Given the description of an element on the screen output the (x, y) to click on. 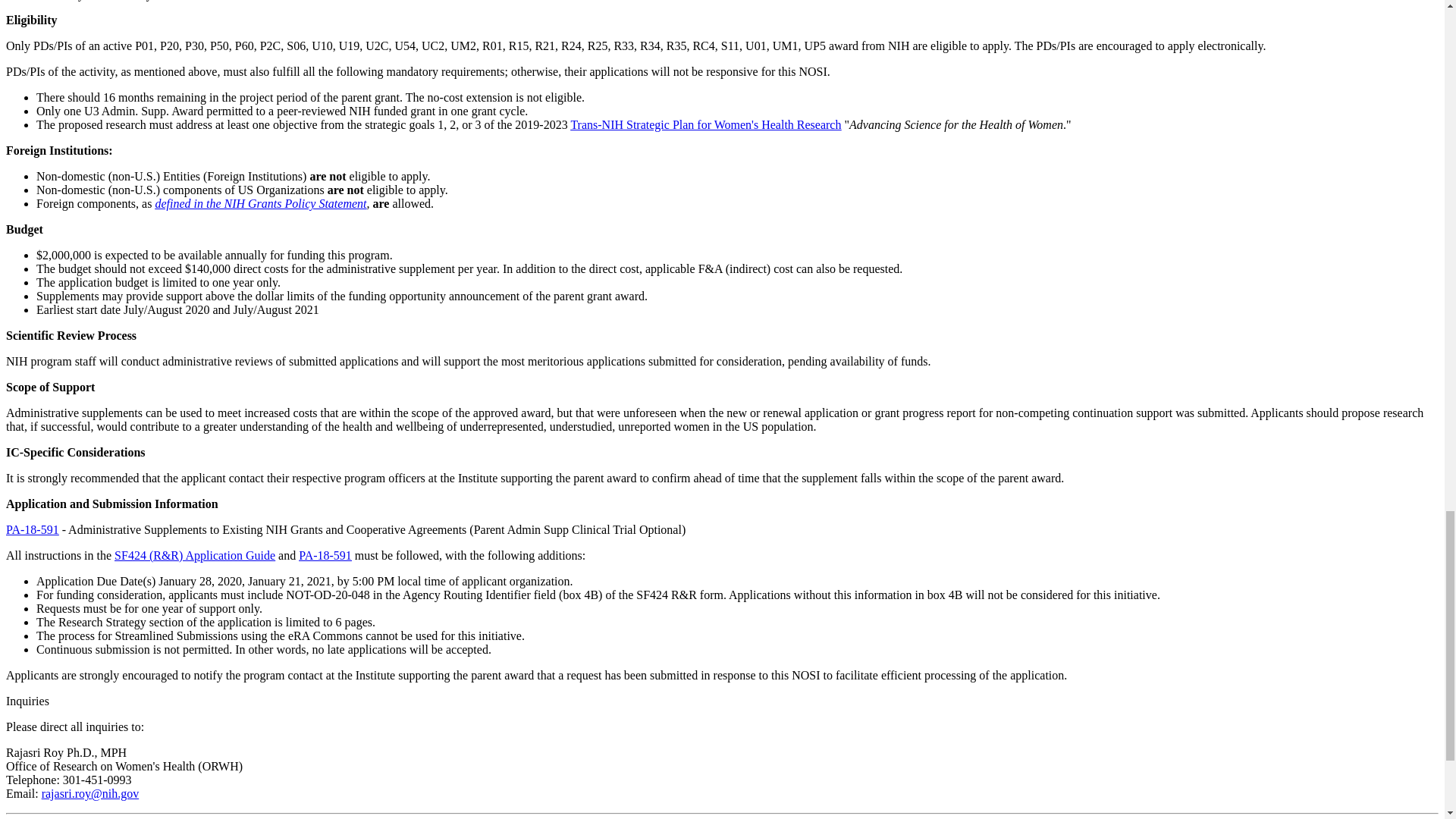
Trans-NIH Strategic Plan for Women's Health Research (705, 124)
defined in the NIH Grants Policy Statement (260, 203)
PA-18-591 (325, 554)
PA-18-591 (32, 529)
